Given the description of an element on the screen output the (x, y) to click on. 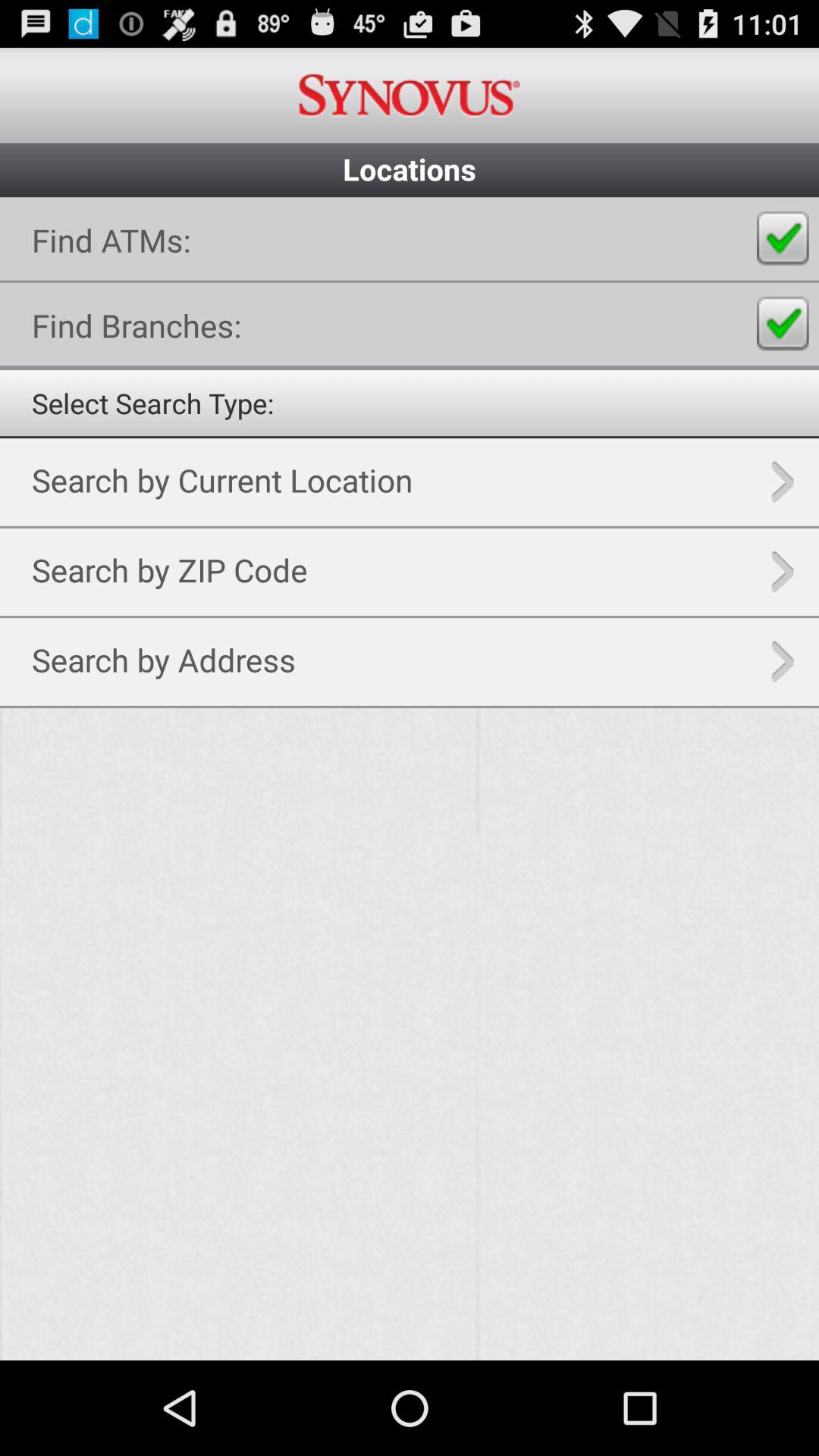
synovus locations page (409, 778)
